Given the description of an element on the screen output the (x, y) to click on. 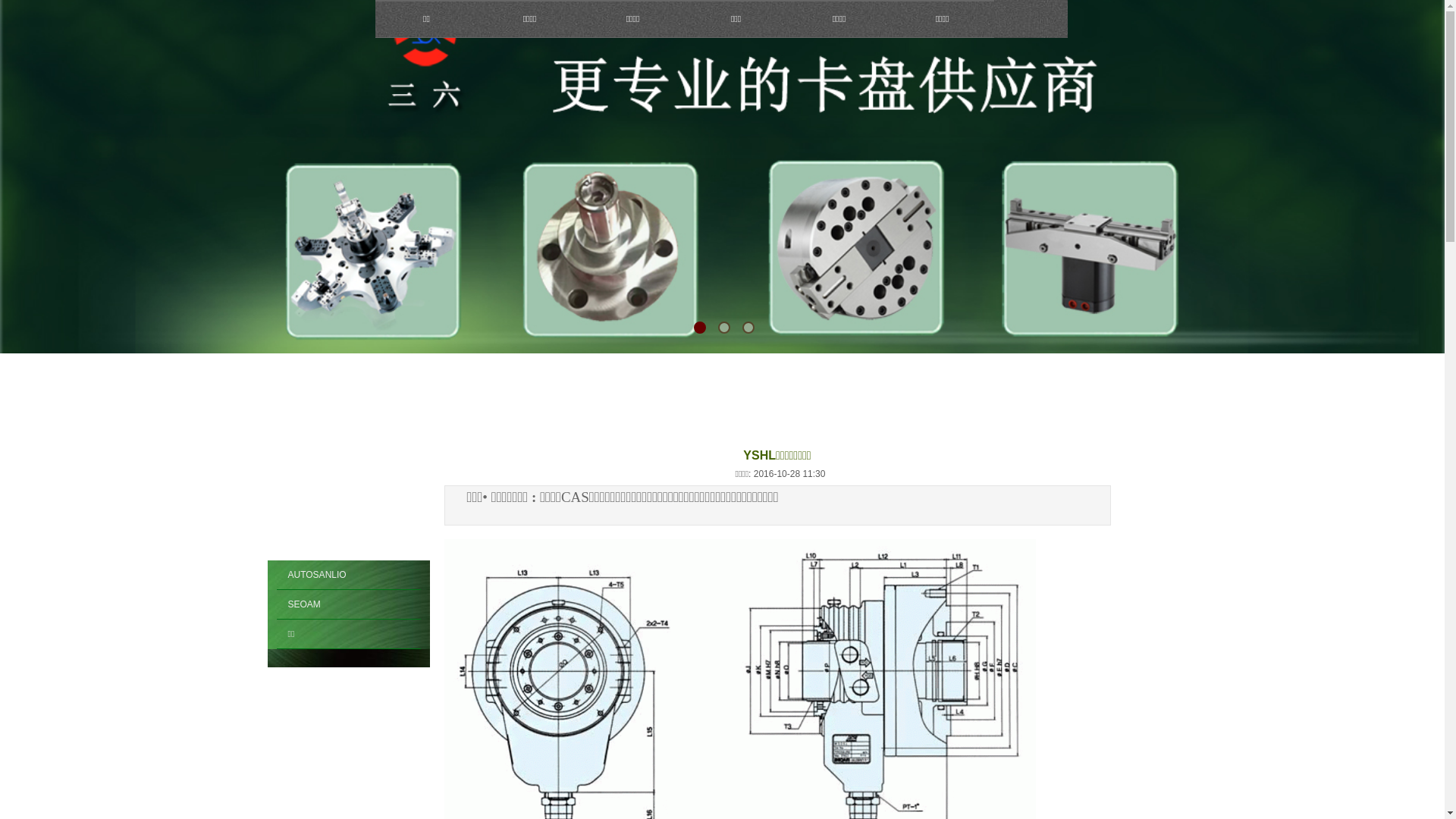
AUTOSANLIO Element type: text (348, 574)
SEOAM Element type: text (348, 604)
